Given the description of an element on the screen output the (x, y) to click on. 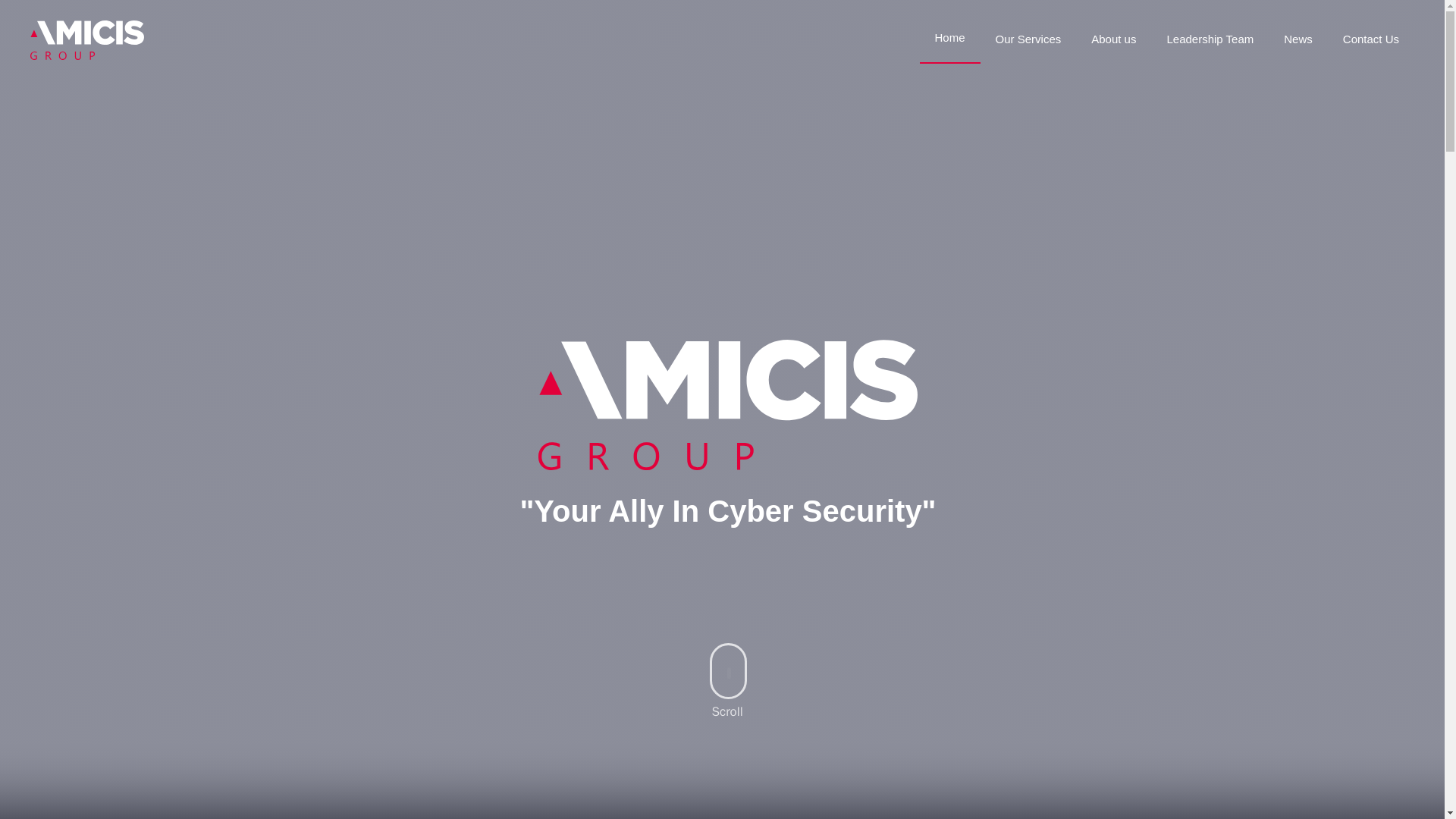
Leadership Team (1209, 39)
About us (1113, 39)
Our Services (1028, 39)
logo (727, 404)
News (1297, 39)
Home (949, 37)
Contact Us (1370, 39)
